Given the description of an element on the screen output the (x, y) to click on. 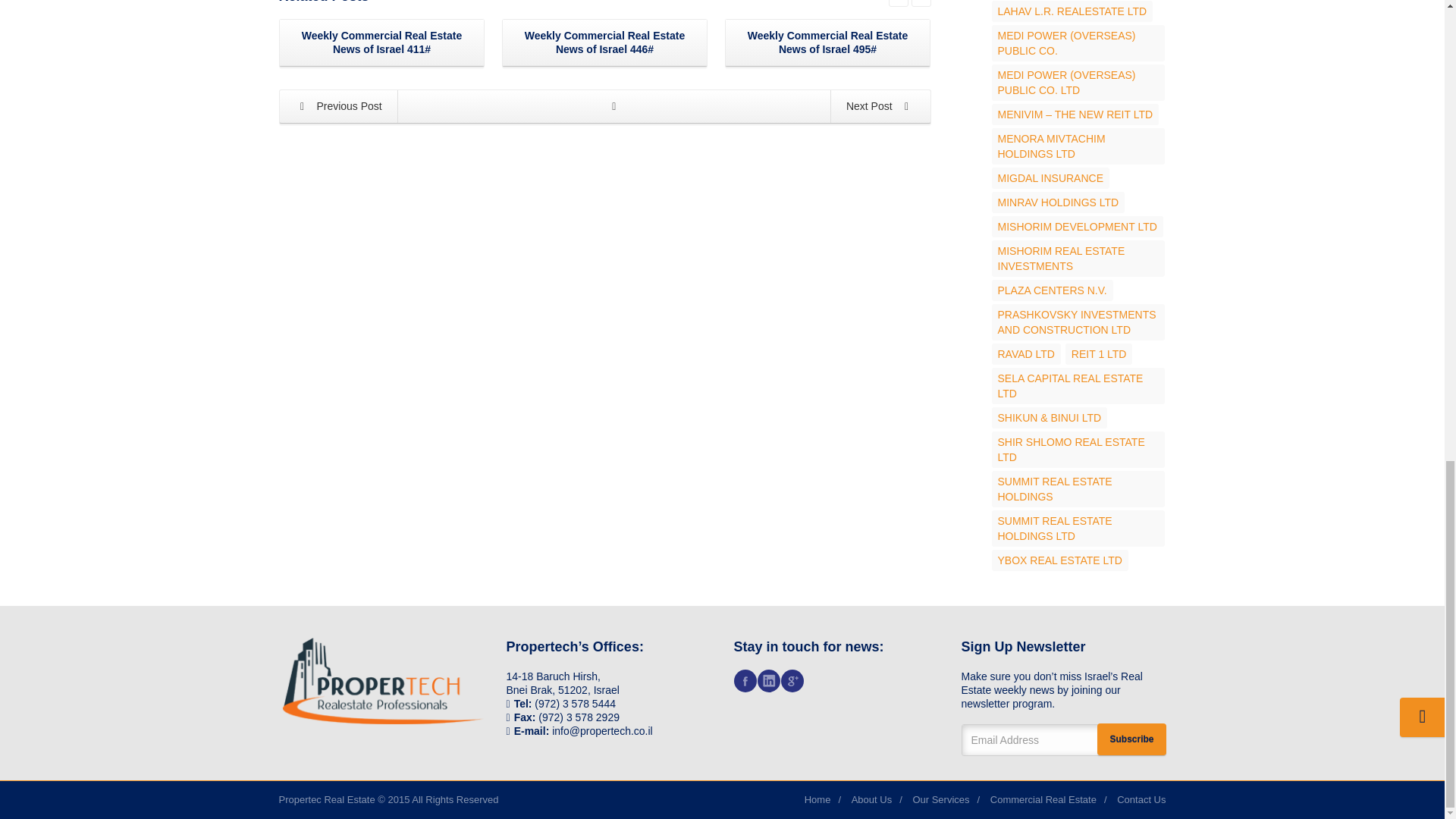
Go to the blog page (614, 106)
Next Post (879, 106)
Previous Post (338, 106)
